Given the description of an element on the screen output the (x, y) to click on. 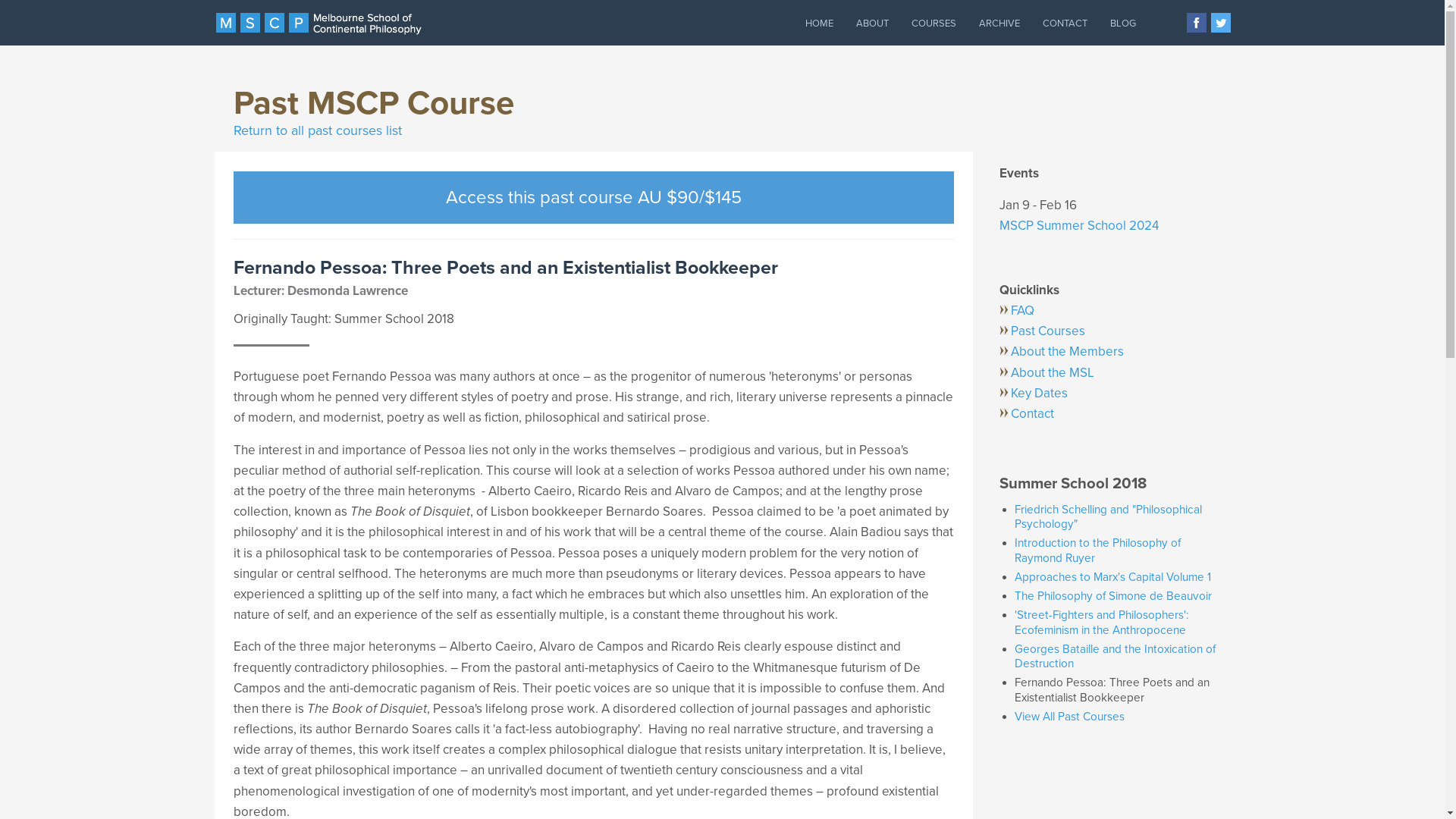
View All Past Courses Element type: text (1069, 716)
BLOG Element type: text (1122, 22)
Friedrich Schelling and "Philosophical Psychology" Element type: text (1107, 516)
COURSES Element type: text (932, 22)
Return to all past courses list Element type: text (317, 130)
FAQ Element type: text (1109, 310)
ARCHIVE Element type: text (999, 22)
HOME Element type: text (818, 22)
ABOUT Element type: text (872, 22)
Contact Element type: text (1109, 413)
Key Dates Element type: text (1109, 392)
Introduction to the Philosophy of Raymond Ruyer Element type: text (1097, 550)
About the Members Element type: text (1109, 351)
MSCP Element type: hover (317, 22)
MSCP on Twitter Element type: hover (1220, 21)
MSCP Summer School 2024 Element type: text (1078, 225)
CONTACT Element type: text (1064, 22)
Georges Bataille and the Intoxication of Destruction Element type: text (1114, 656)
MSCP on Facebook Element type: hover (1195, 21)
The Philosophy of Simone de Beauvoir Element type: text (1112, 595)
Past Courses Element type: text (1109, 330)
Access this past course AU $90/$145 Element type: text (593, 197)
Approaches to Marx's Capital Volume 1 Element type: text (1112, 576)
About the MSL Element type: text (1109, 372)
